Given the description of an element on the screen output the (x, y) to click on. 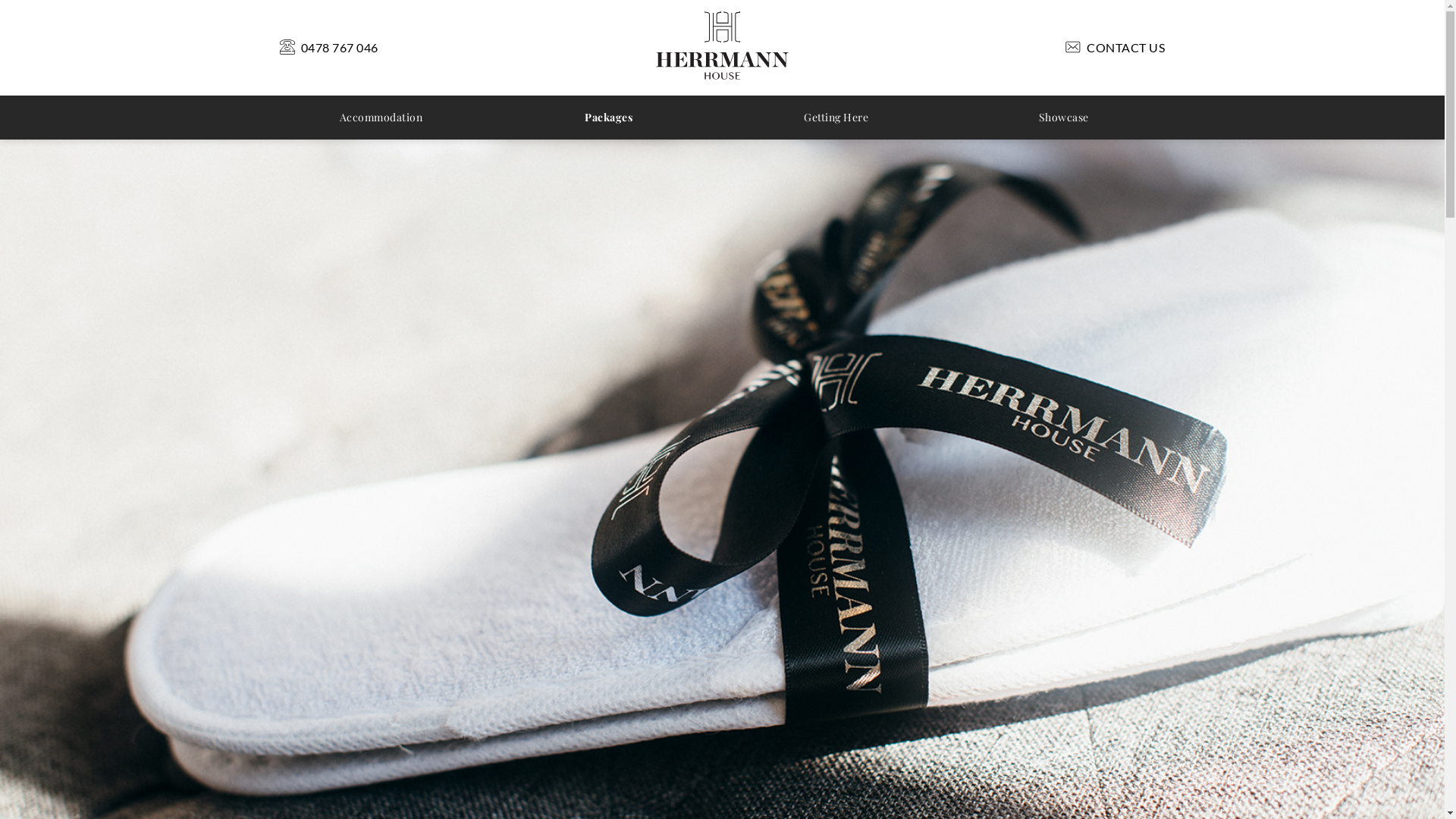
0478 767 046 Element type: text (328, 47)
CONTACT US Element type: text (1114, 47)
